Given the description of an element on the screen output the (x, y) to click on. 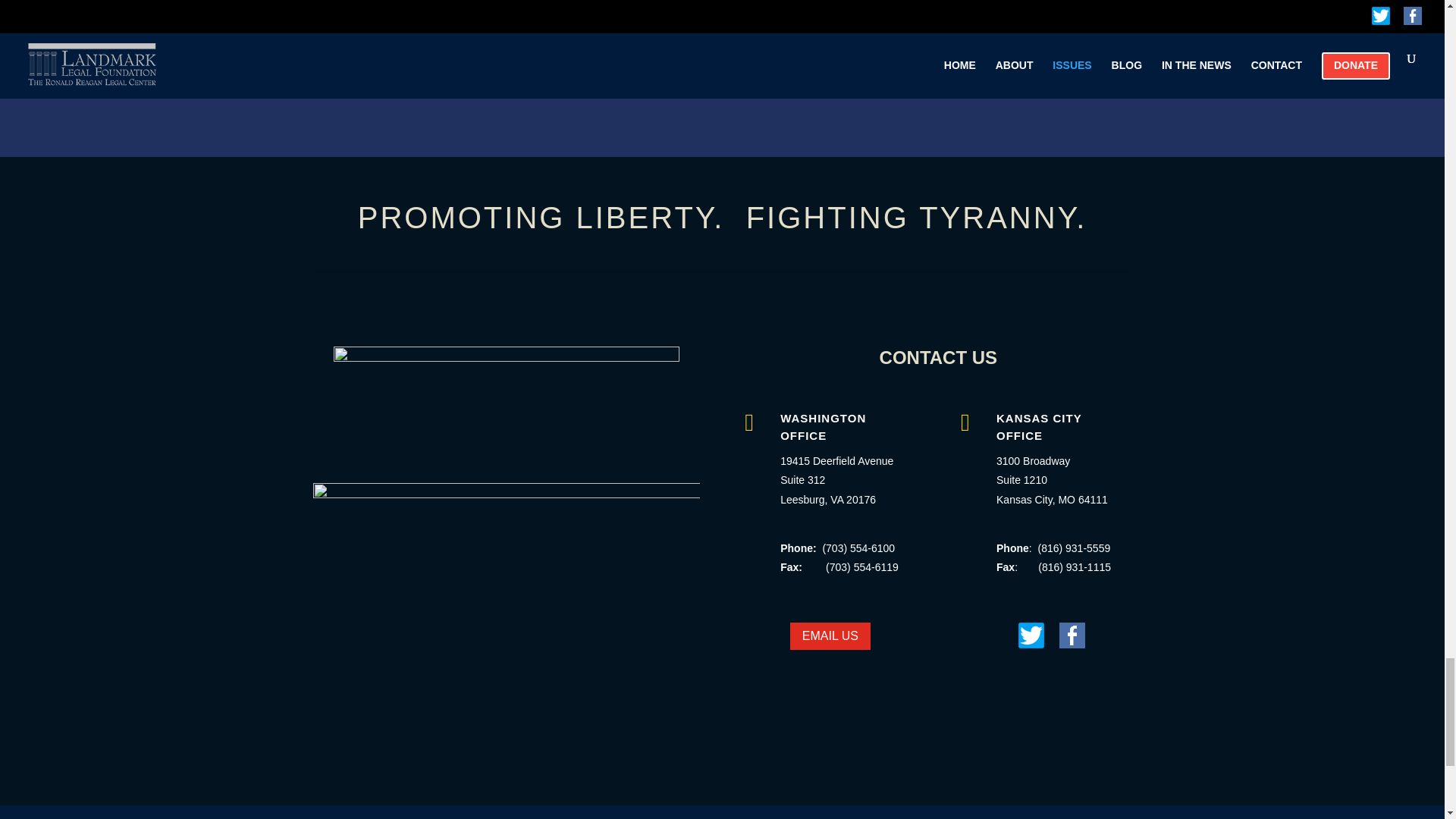
facebook (1071, 635)
Landmark Logo grey2 (506, 403)
Landmark-Legal-footer (505, 612)
Twitter-logo (1030, 635)
Sign up (786, 72)
